Given the description of an element on the screen output the (x, y) to click on. 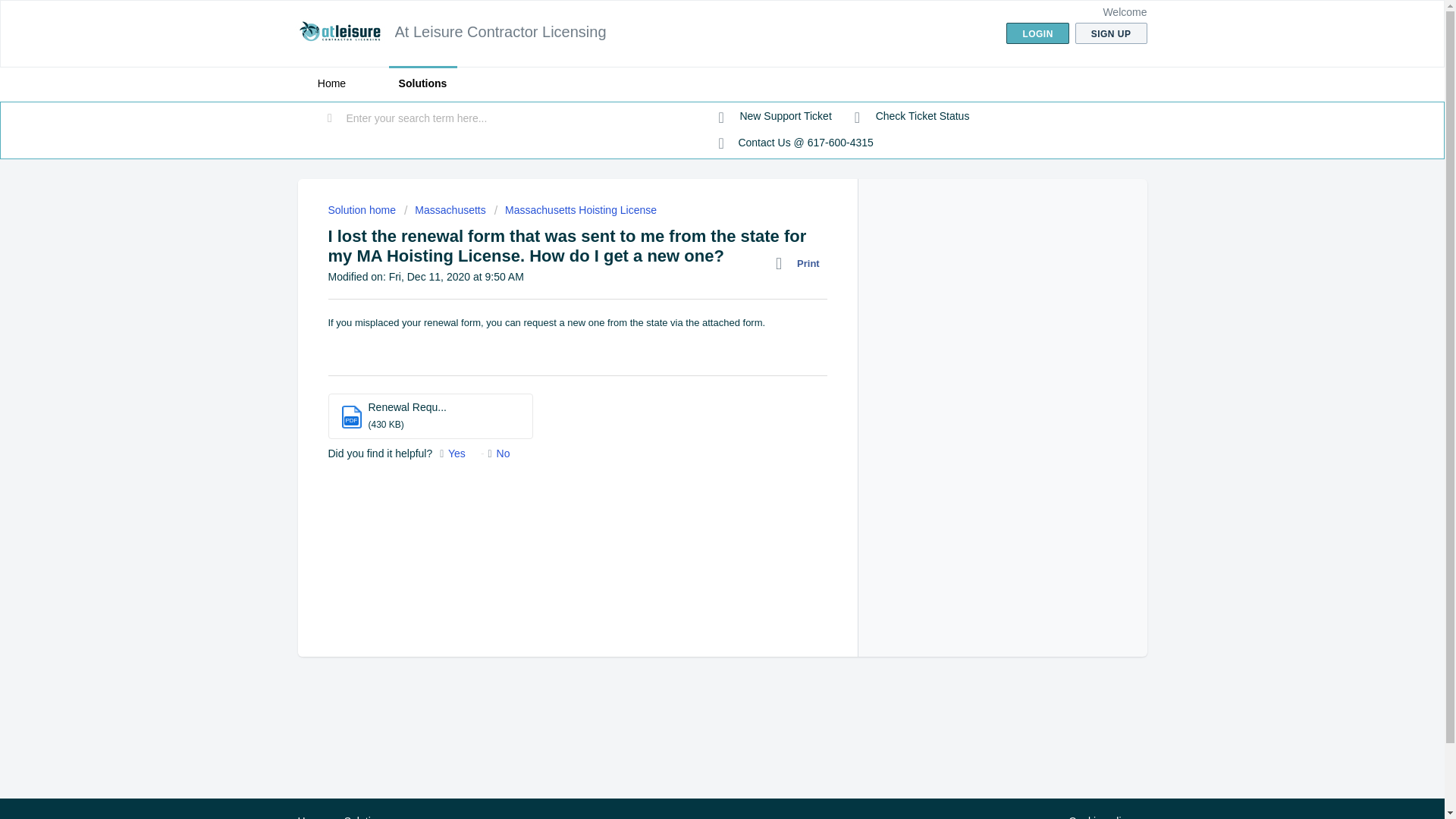
Renewal Requ... (407, 407)
Solutions (422, 83)
Why we love Cookies (1099, 816)
Solution home (362, 209)
New Support Ticket (775, 116)
Home (310, 816)
Check ticket status (911, 116)
Massachusetts (445, 209)
Print this Article (801, 263)
Massachusetts Hoisting License (575, 209)
LOGIN (1037, 33)
SIGN UP (1111, 33)
Cookie policy (1099, 816)
Print (801, 263)
Solutions (365, 816)
